Given the description of an element on the screen output the (x, y) to click on. 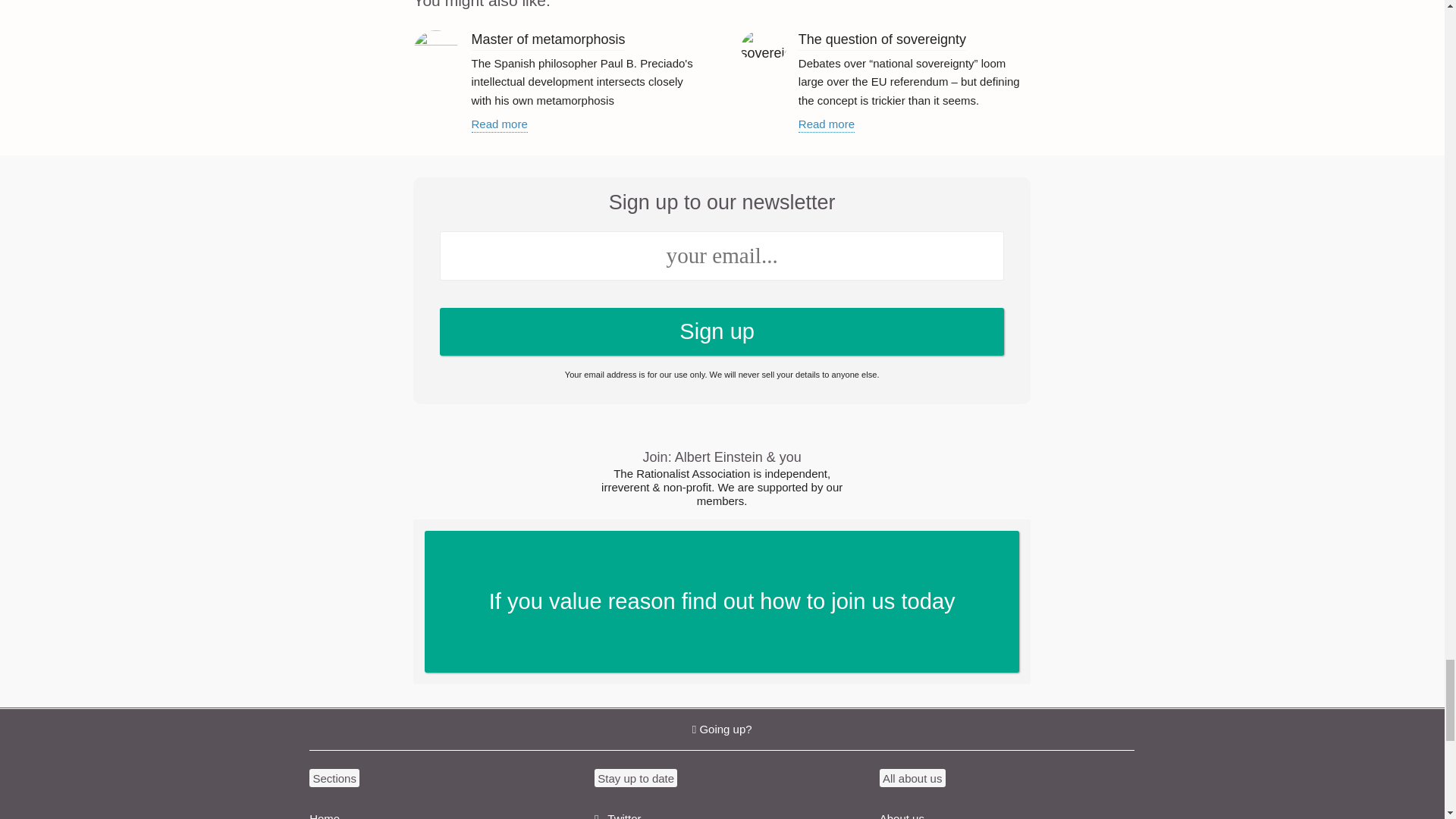
Sign up (721, 331)
The question of sovereignty (881, 40)
Master of metamorphosis (825, 124)
sovereignty (548, 40)
Home (763, 47)
Twitter (436, 808)
If you value reason find out how to join us today (721, 808)
Going up? (722, 601)
